Given the description of an element on the screen output the (x, y) to click on. 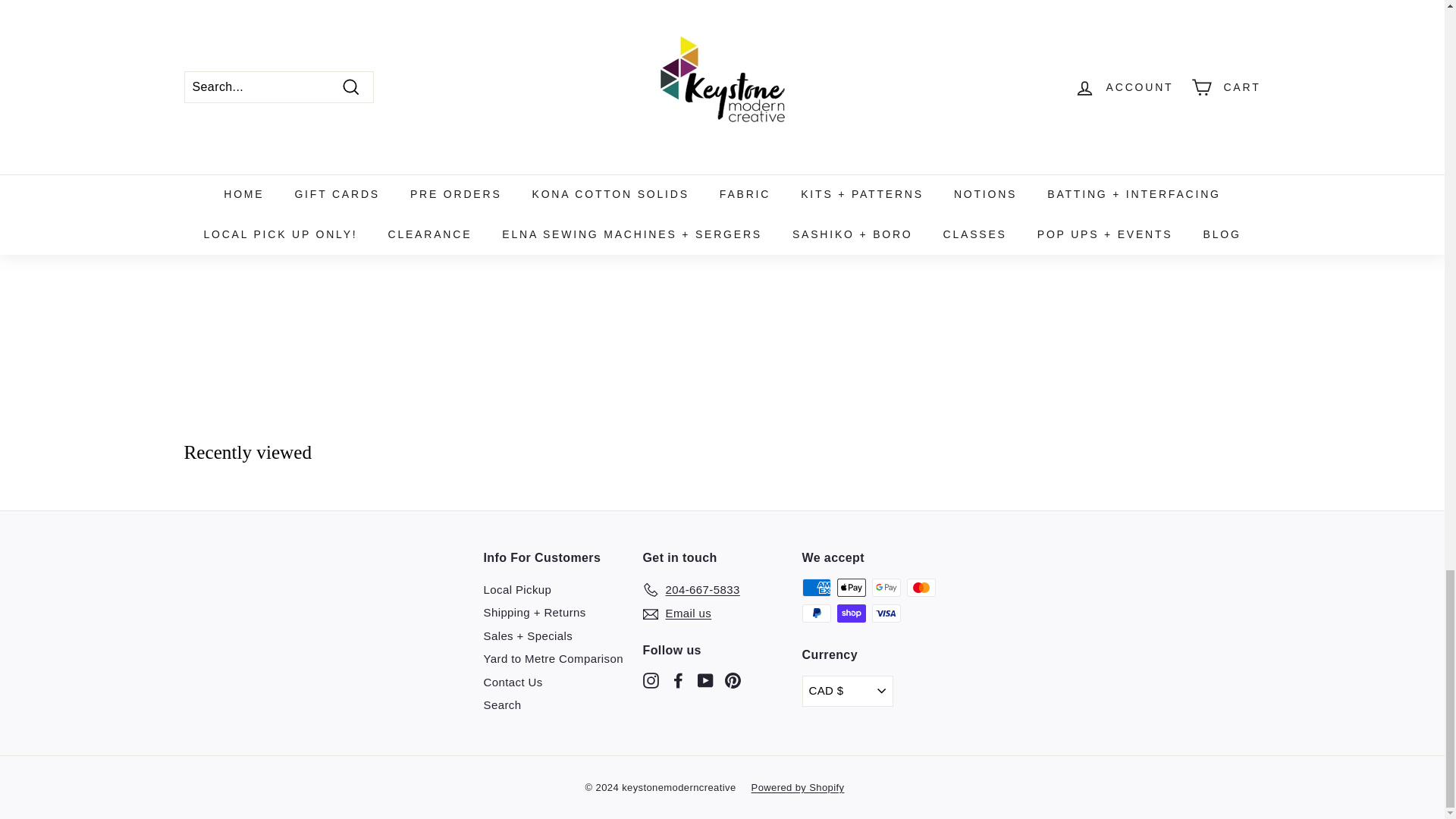
keystonemoderncreative on Pinterest (733, 679)
keystonemoderncreative on YouTube (705, 679)
keystonemoderncreative on Facebook (677, 679)
keystonemoderncreative on Instagram (651, 679)
